Given the description of an element on the screen output the (x, y) to click on. 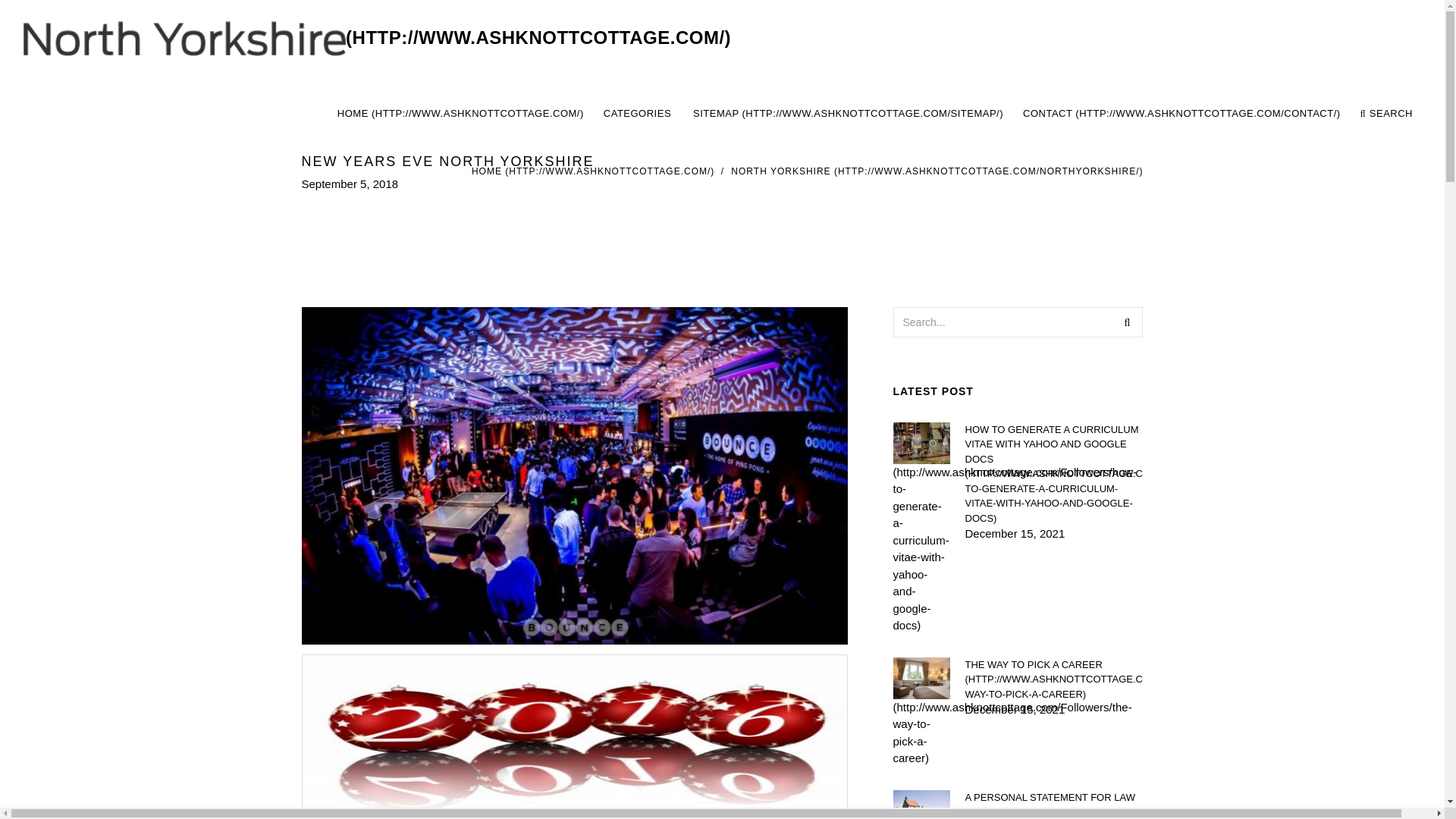
CONTACT (1181, 113)
NORTH YORKSHIRE (936, 171)
THE WAY TO PICK A CAREER (1052, 678)
Search (1126, 321)
SITEMAP (847, 113)
HOME (592, 171)
North Yorkshire (376, 38)
CATEGORIES (638, 113)
HOME (460, 113)
2016 (874, 113)
SEARCH (574, 734)
